Given the description of an element on the screen output the (x, y) to click on. 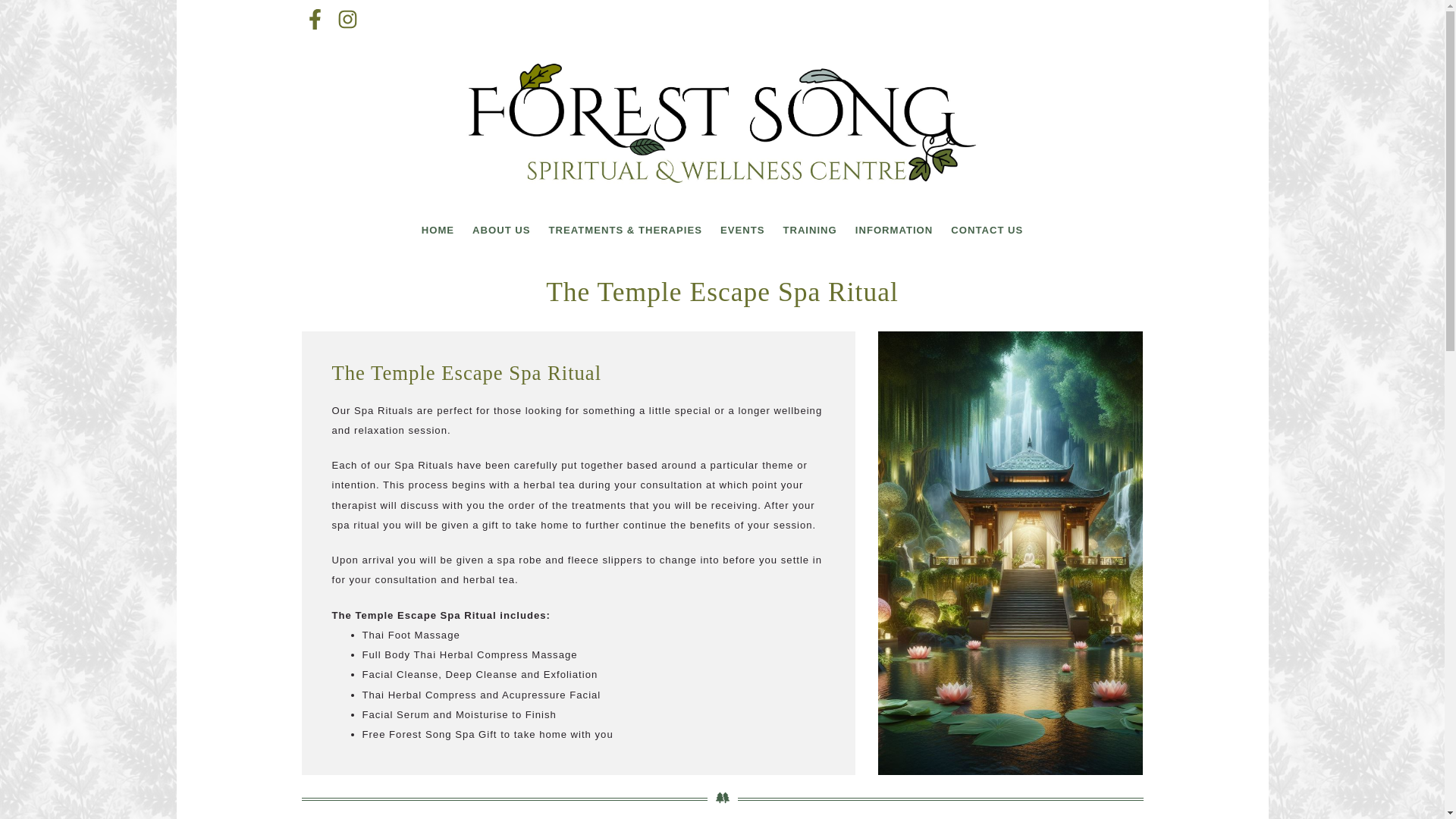
TRAINING (809, 229)
CONTACT US (987, 229)
instagram (346, 21)
INFORMATION (893, 229)
HOME (437, 229)
facebook (315, 21)
ABOUT US (500, 229)
EVENTS (742, 229)
